Given the description of an element on the screen output the (x, y) to click on. 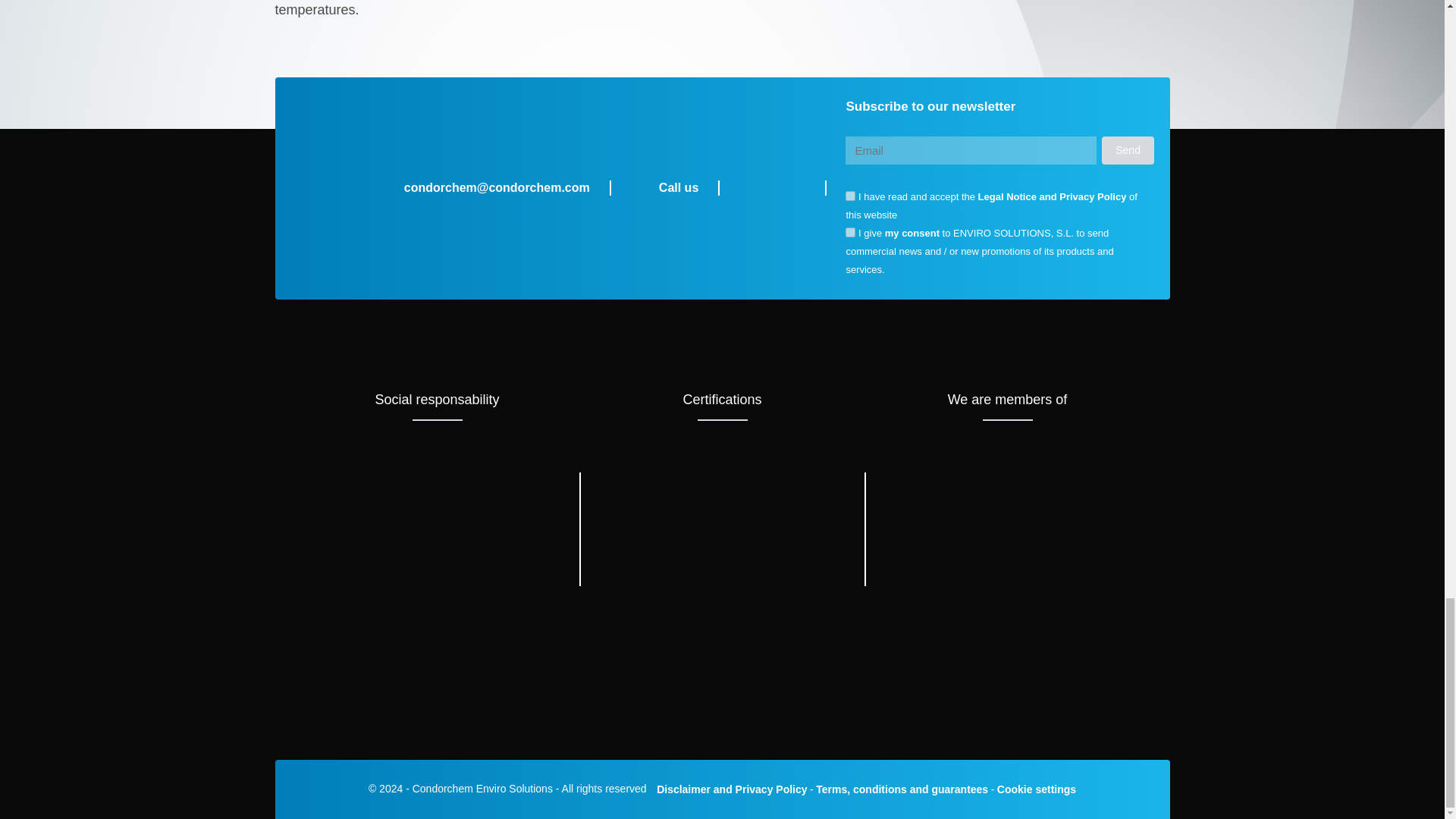
Send (1128, 150)
1 (850, 195)
1 (850, 232)
